Given the description of an element on the screen output the (x, y) to click on. 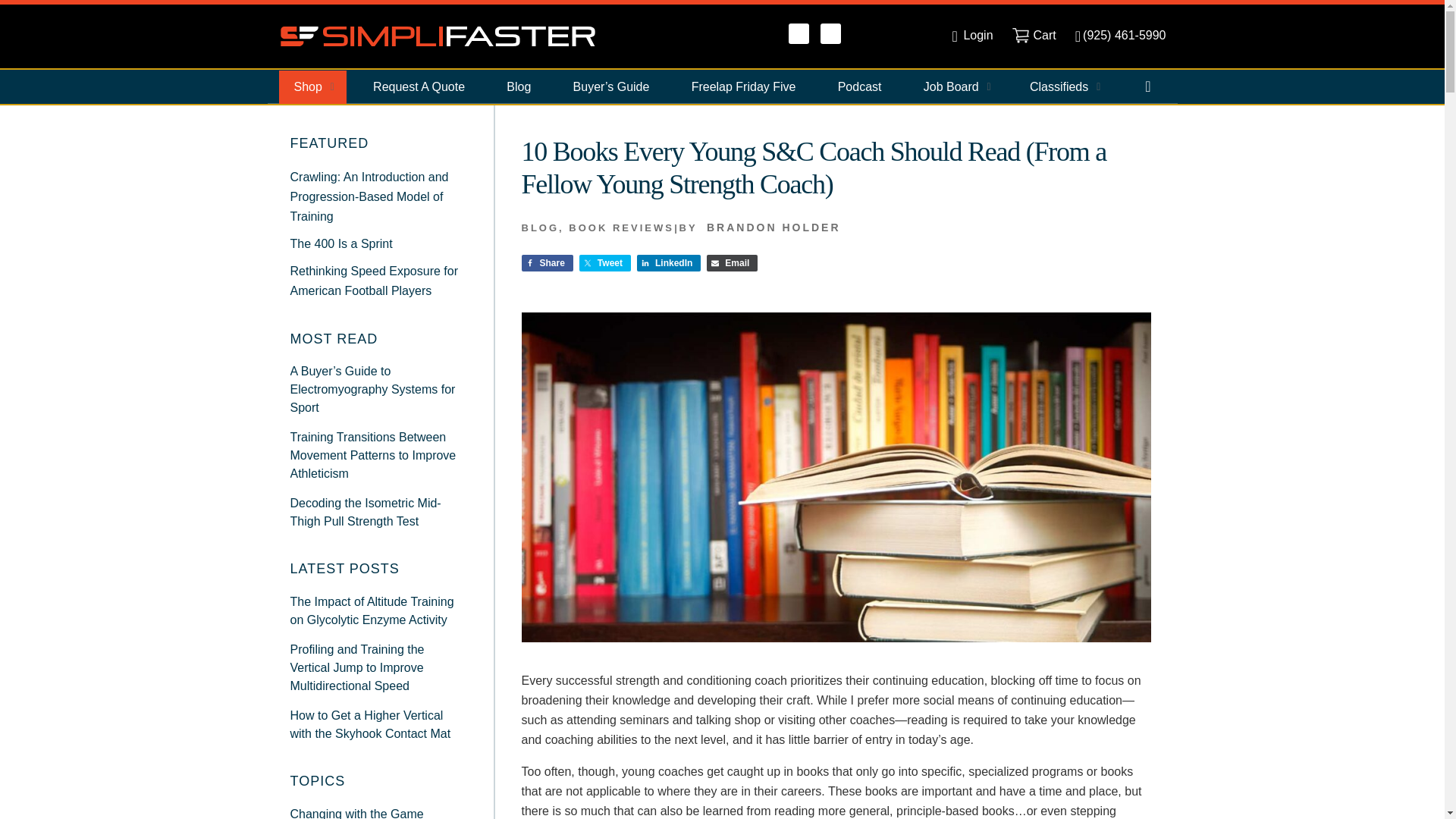
Email (731, 262)
Shop (312, 86)
Share on Twitter (604, 262)
Tweet (604, 262)
BOOK REVIEWS (621, 227)
Classifieds (1063, 86)
BLOG (540, 227)
Cart (1034, 34)
Share on Facebook (547, 262)
Blog (519, 86)
